Given the description of an element on the screen output the (x, y) to click on. 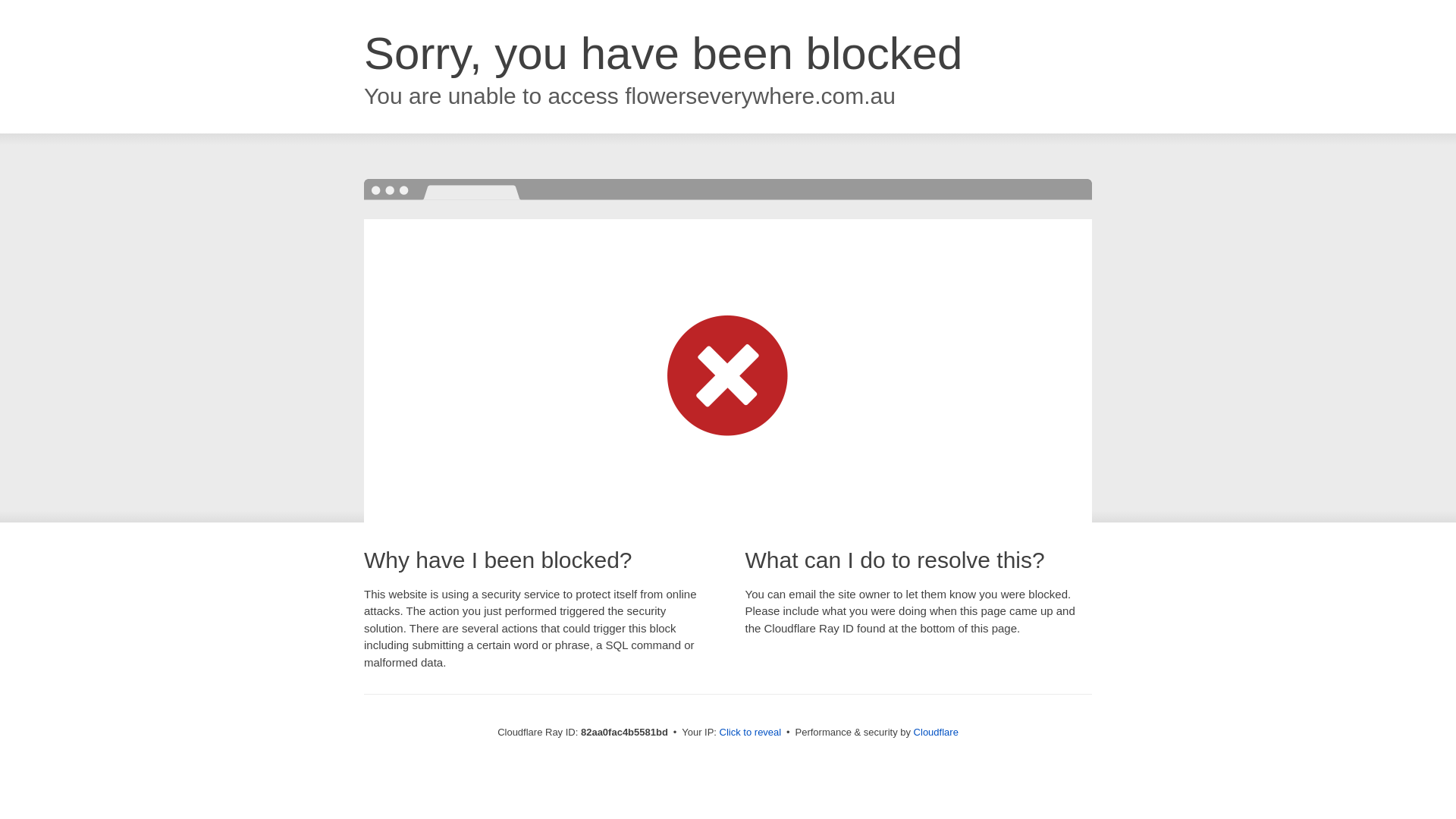
Cloudflare Element type: text (935, 731)
Click to reveal Element type: text (750, 732)
